Given the description of an element on the screen output the (x, y) to click on. 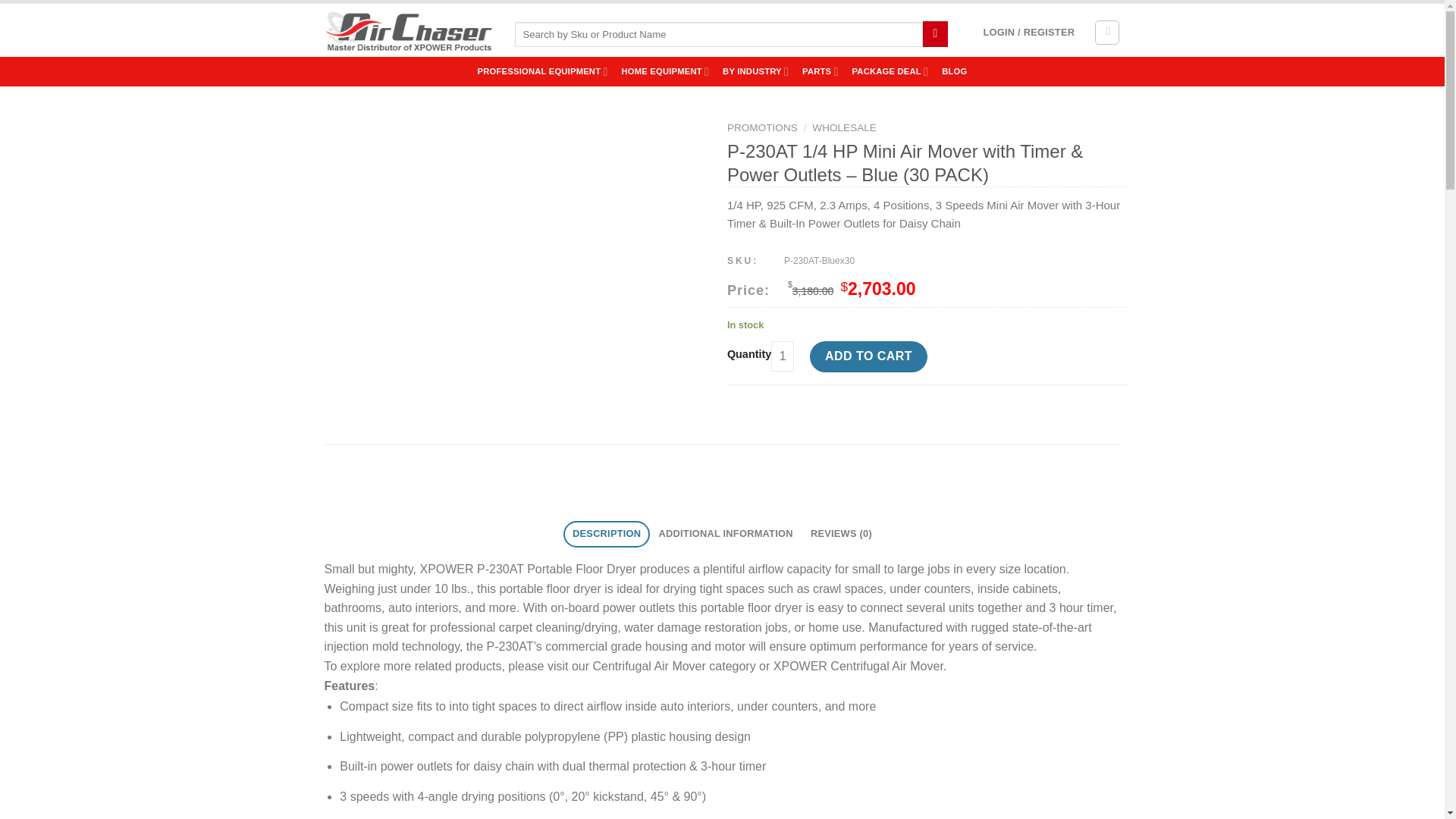
PROFESSIONAL EQUIPMENT (542, 71)
Search (935, 33)
Cart (1106, 31)
